Given the description of an element on the screen output the (x, y) to click on. 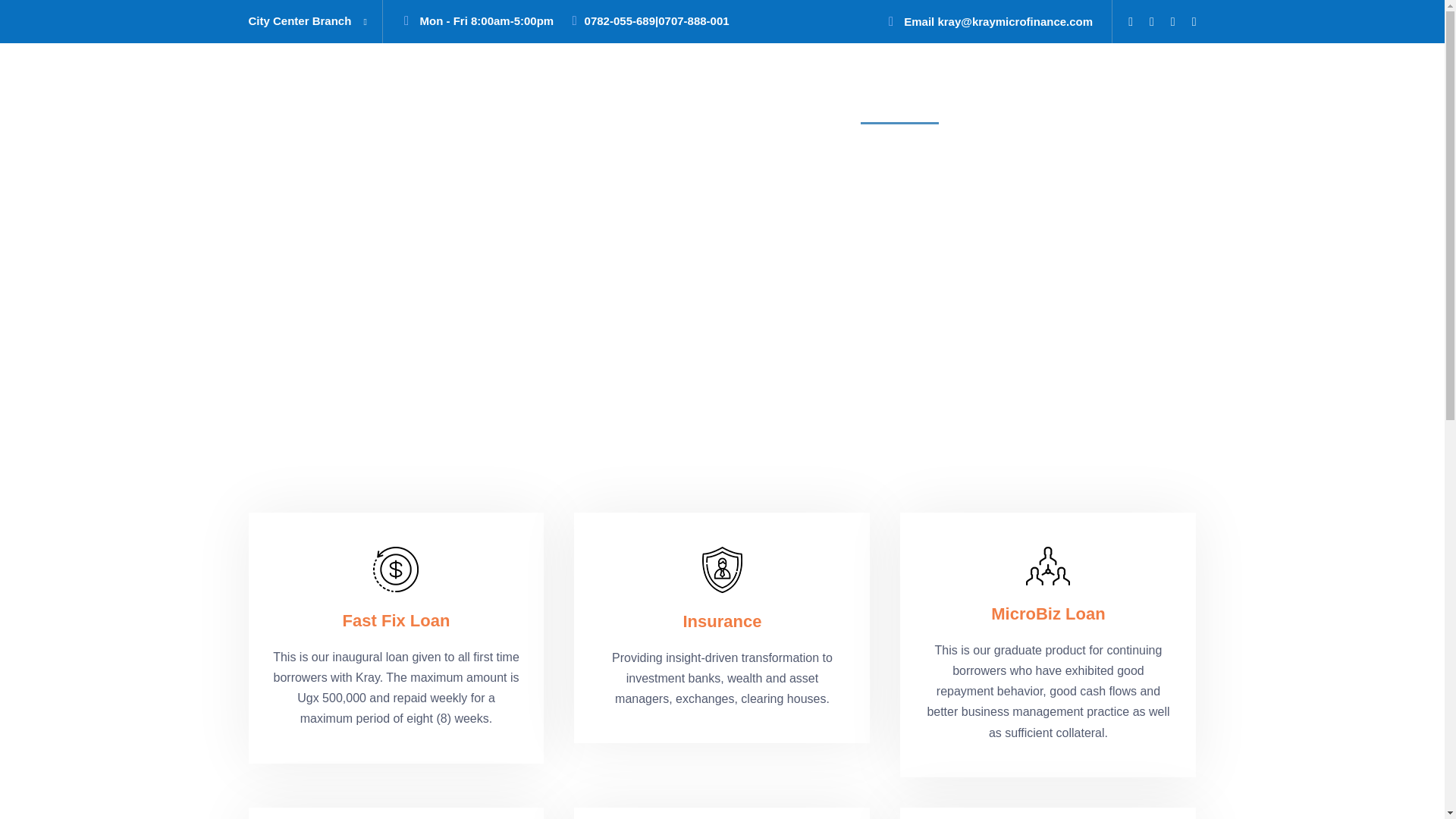
Home (751, 106)
Investors (1006, 106)
Contact Us (1146, 106)
service-icon-5 (1048, 566)
service-icon-1 (395, 569)
About Us (823, 106)
Our Services (914, 106)
